Given the description of an element on the screen output the (x, y) to click on. 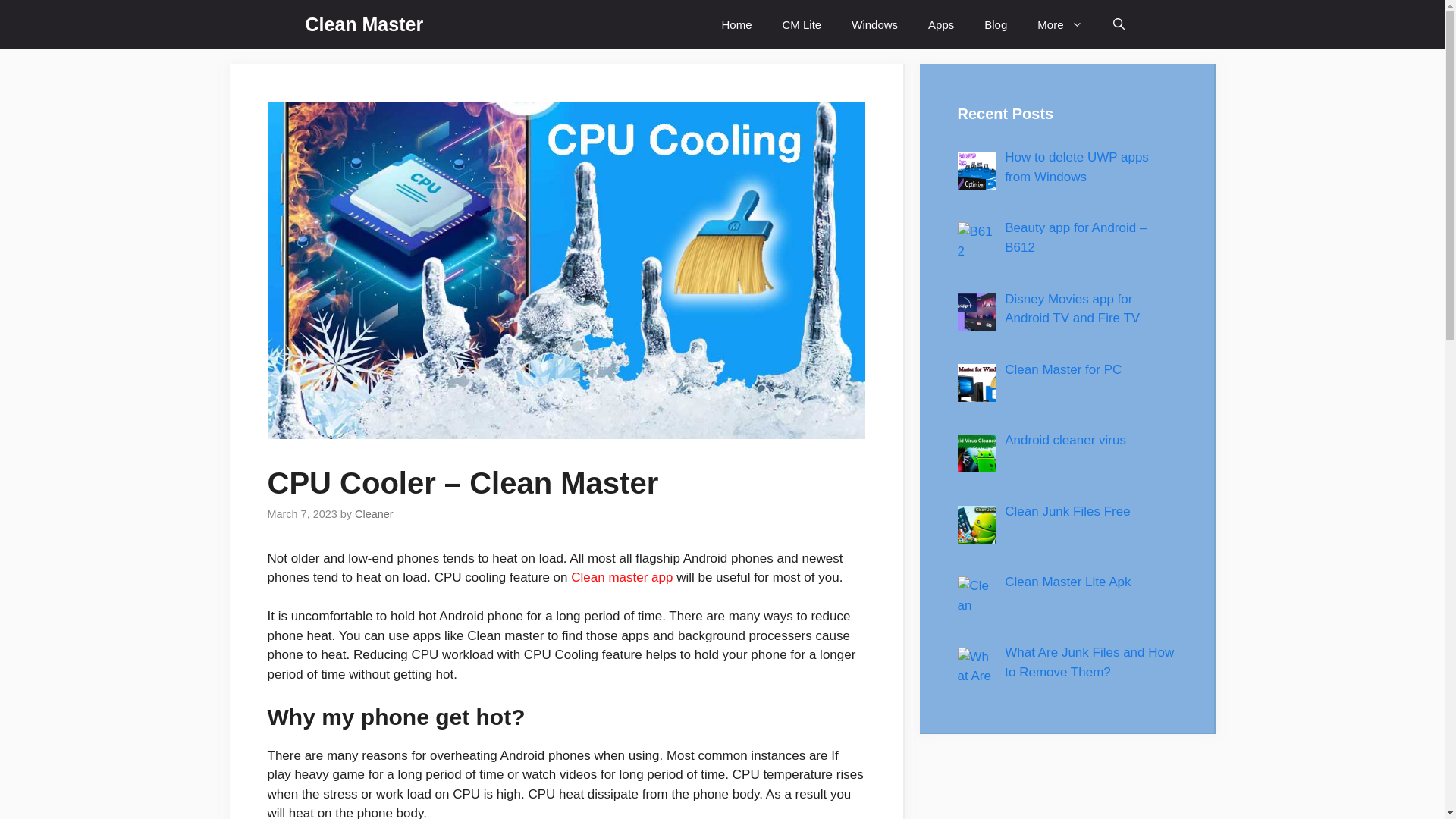
Android cleaner virus (1064, 440)
Blog (995, 24)
Windows (873, 24)
More (1059, 24)
What Are Junk Files and How to Remove Them? (1088, 662)
Clean Junk Files Free (1066, 511)
View all posts by Cleaner (374, 513)
Home (736, 24)
How to delete UWP apps from Windows (1076, 166)
Clean Master Lite Apk (1067, 581)
Clean Master (363, 24)
Clean master app (621, 577)
CM Lite (802, 24)
Disney Movies app for Android TV and Fire TV (1072, 308)
Cleaner (374, 513)
